Given the description of an element on the screen output the (x, y) to click on. 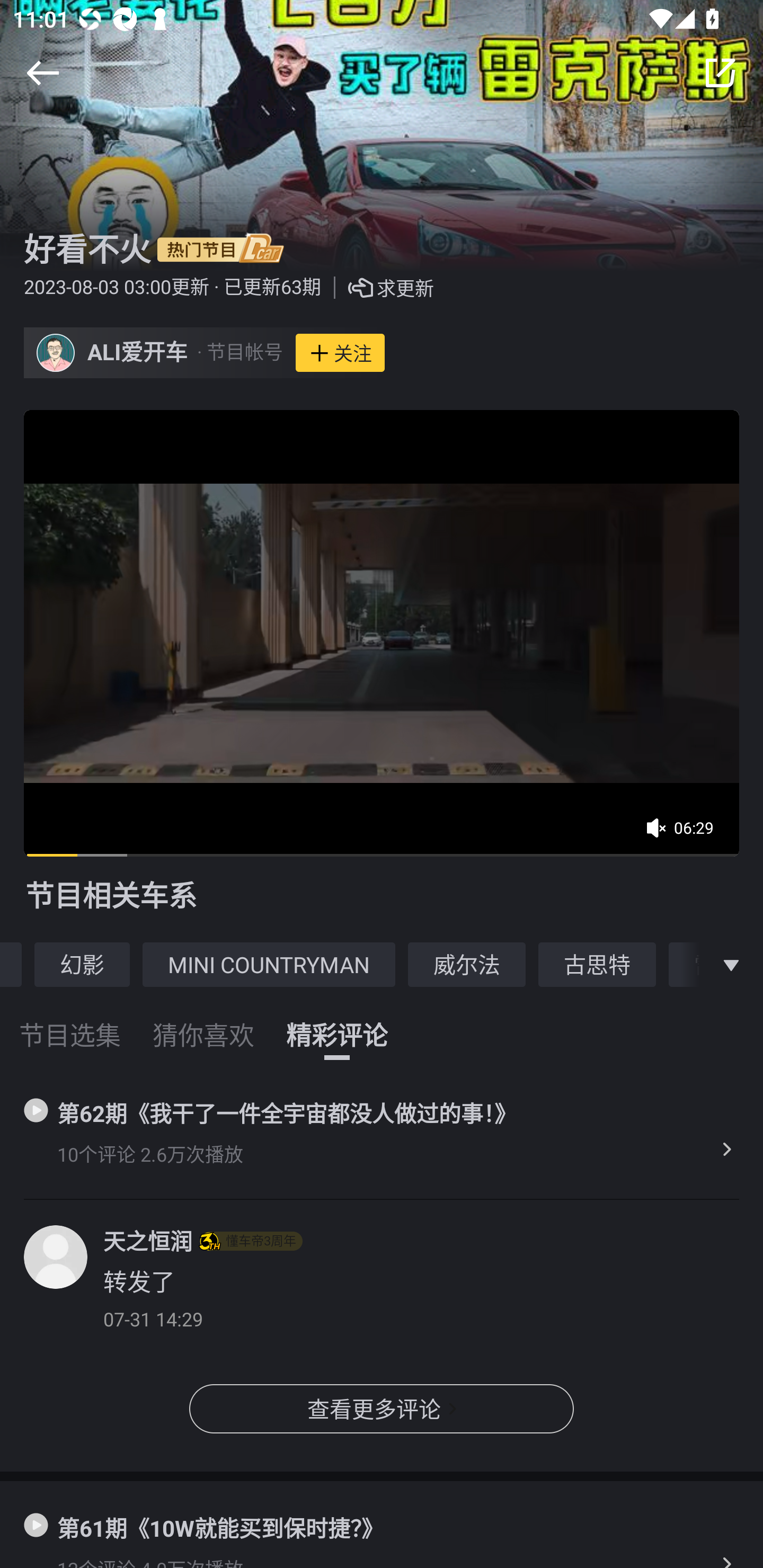
 (42, 72)
 (720, 72)
 求更新 (377, 287)
ALI爱开车 (137, 352)
· 节目帐号 (239, 352)
 关注 (340, 352)
06:29 (685, 834)
 (731, 963)
幻影 (81, 964)
MINI COUNTRYMAN (268, 964)
威尔法 (466, 964)
古思特 (597, 964)
节目选集 (69, 1023)
猜你喜欢 (203, 1023)
精彩评论 (336, 1023)
第62期《我干了一件全宇宙都没人做过的事！》 10个评论 2.6万次播放 (381, 1132)
天之恒润 (147, 1240)
懂车帝3周年 (250, 1240)
查看更多评论 (381, 1408)
第61期《10W就能买到保时捷？》 12个评论 4.0万次播放 (381, 1524)
